Given the description of an element on the screen output the (x, y) to click on. 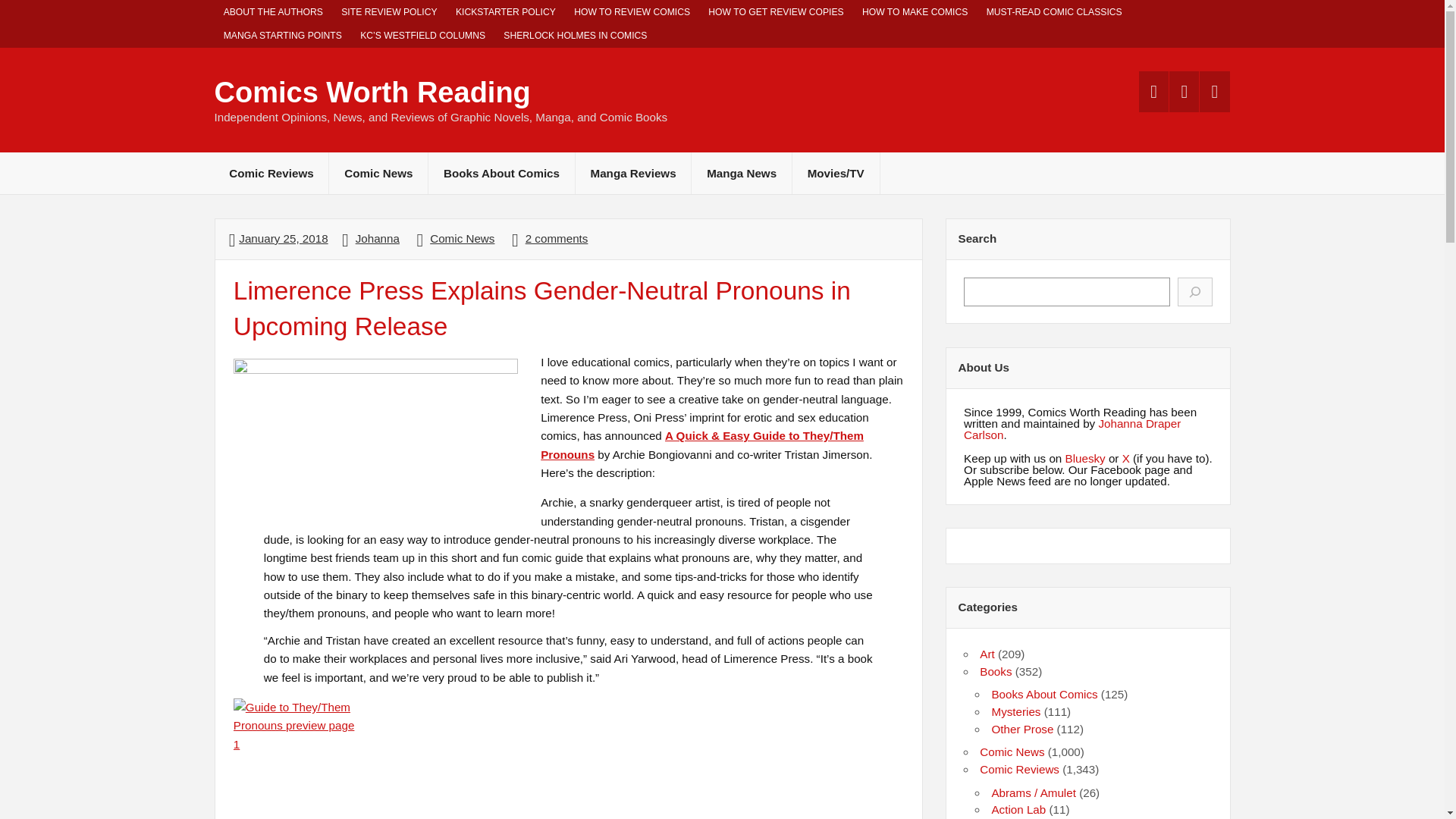
Comic Reviews (271, 173)
MUST-READ COMIC CLASSICS (1053, 12)
SITE REVIEW POLICY (388, 12)
11:33 am (282, 237)
Books About Comics (501, 173)
January 25, 2018 (282, 237)
SHERLOCK HOLMES IN COMICS (575, 36)
Johanna Draper Carlson (1071, 428)
Comic News (462, 237)
View all posts by Johanna (376, 237)
